Given the description of an element on the screen output the (x, y) to click on. 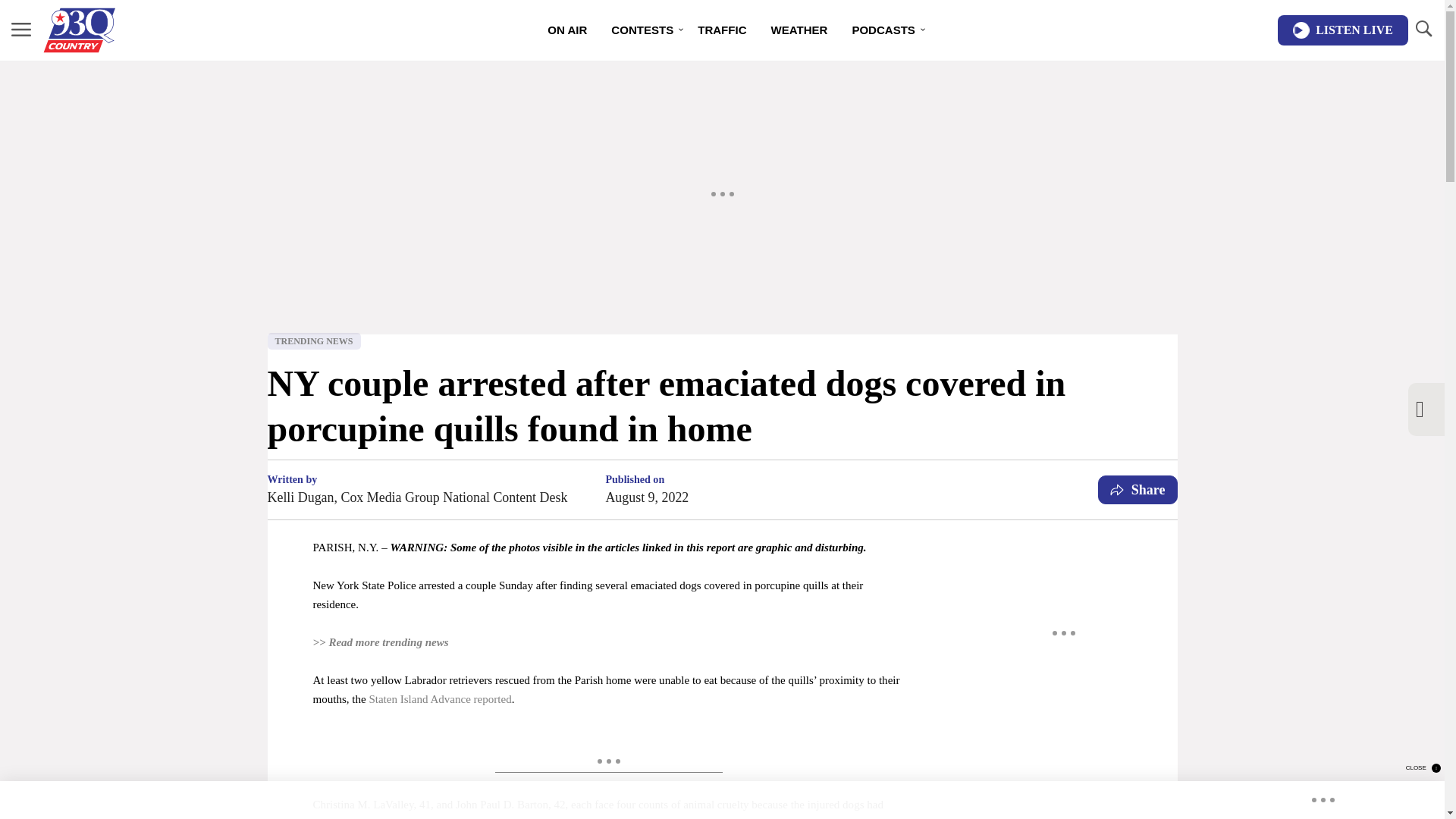
MENU (20, 30)
TRENDING NEWS (312, 340)
WEATHER (799, 30)
PODCASTS (883, 30)
Share (1137, 489)
MENU (20, 29)
ON AIR (566, 30)
WSYR-TV (579, 818)
TOGGLE SEARCH (1422, 30)
TRAFFIC (721, 30)
